Given the description of an element on the screen output the (x, y) to click on. 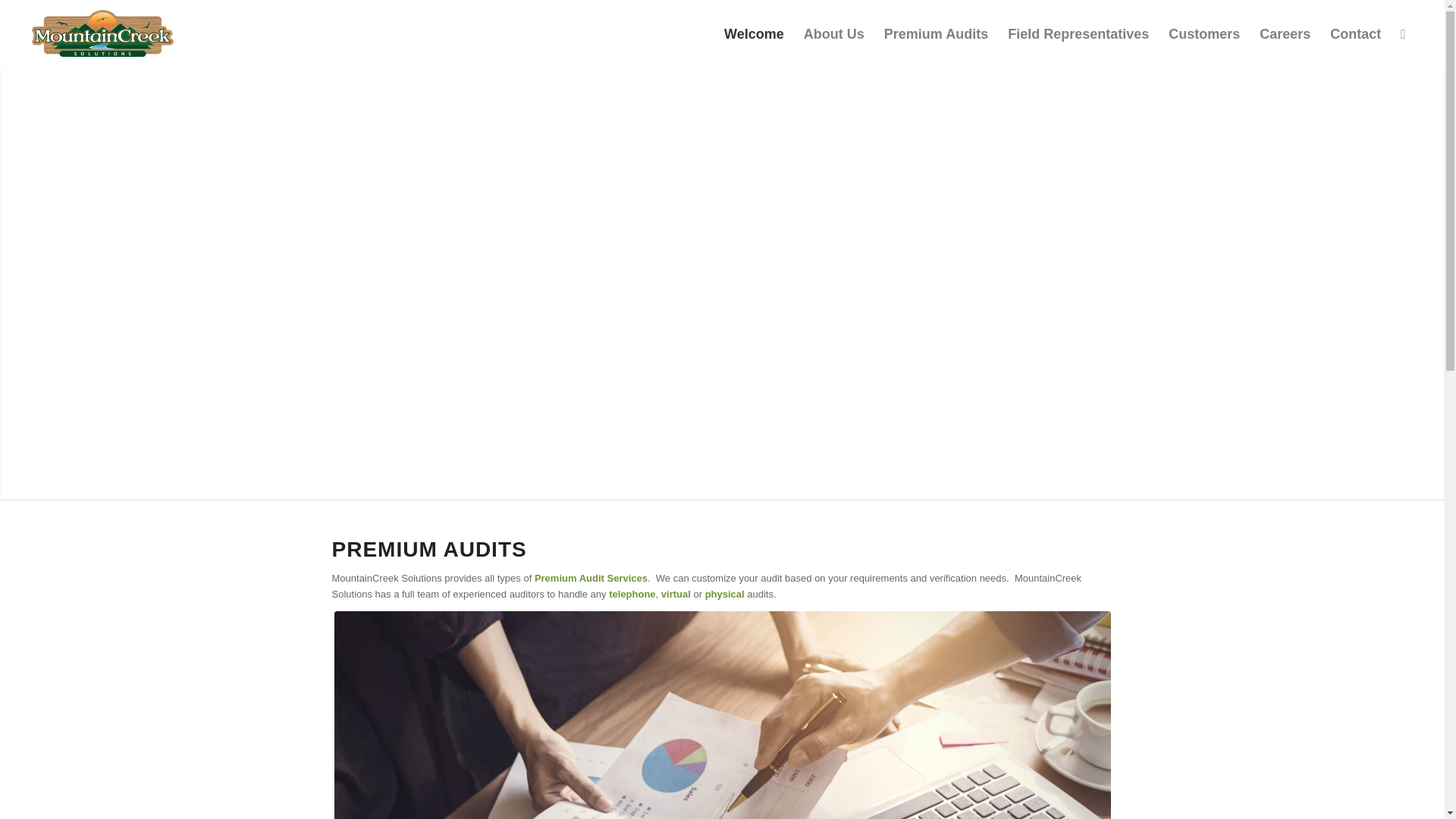
MountainCreek-Solutions-Logo (103, 33)
Careers (1284, 33)
Contact (1355, 33)
Customers (1203, 33)
About Us (834, 33)
Premium Audits (936, 33)
Field Representatives (1077, 33)
Welcome (753, 33)
